Given the description of an element on the screen output the (x, y) to click on. 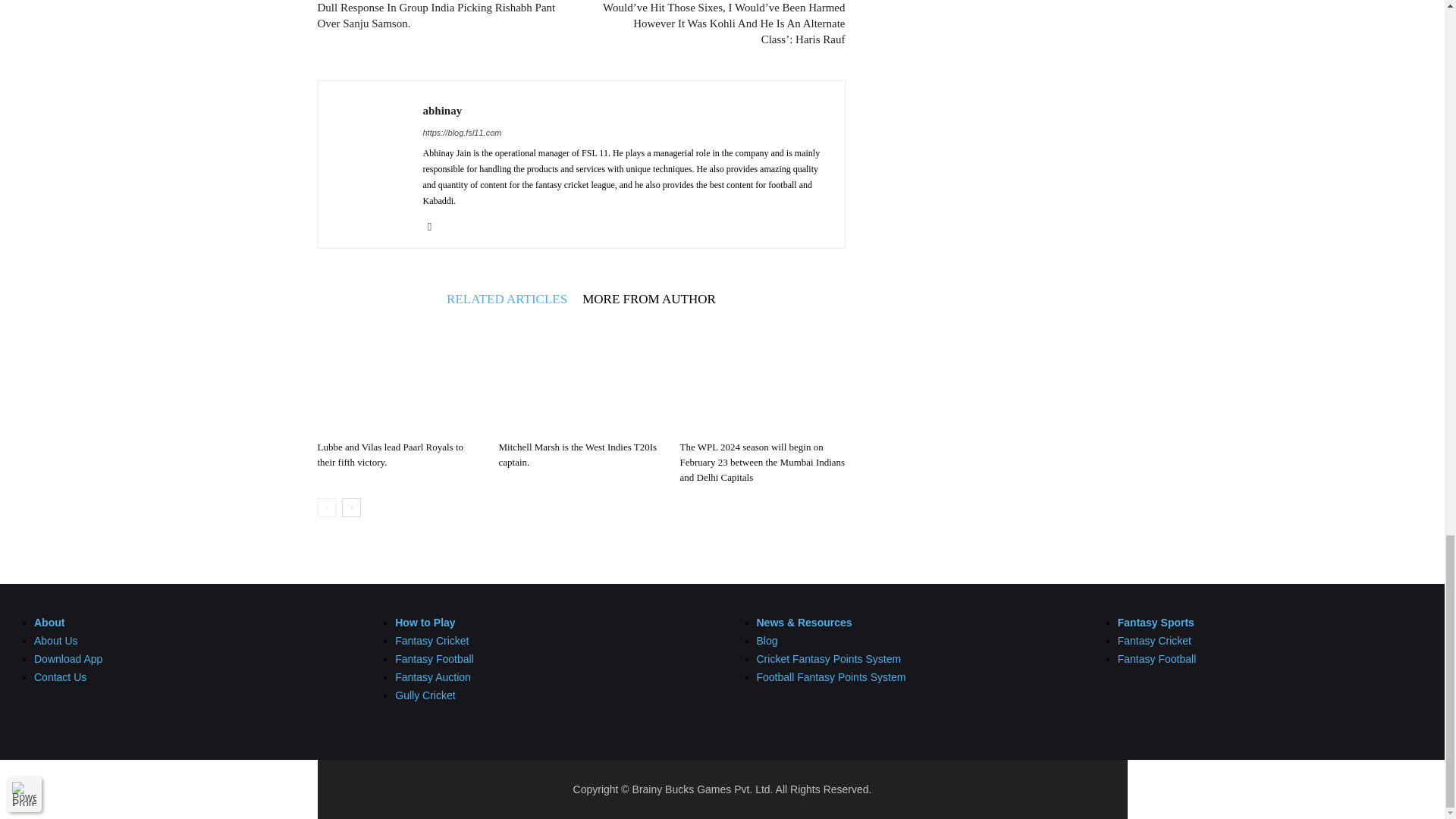
Youtube (435, 226)
Lubbe and Vilas lead Paarl Royals to their fifth victory. (399, 377)
